Given the description of an element on the screen output the (x, y) to click on. 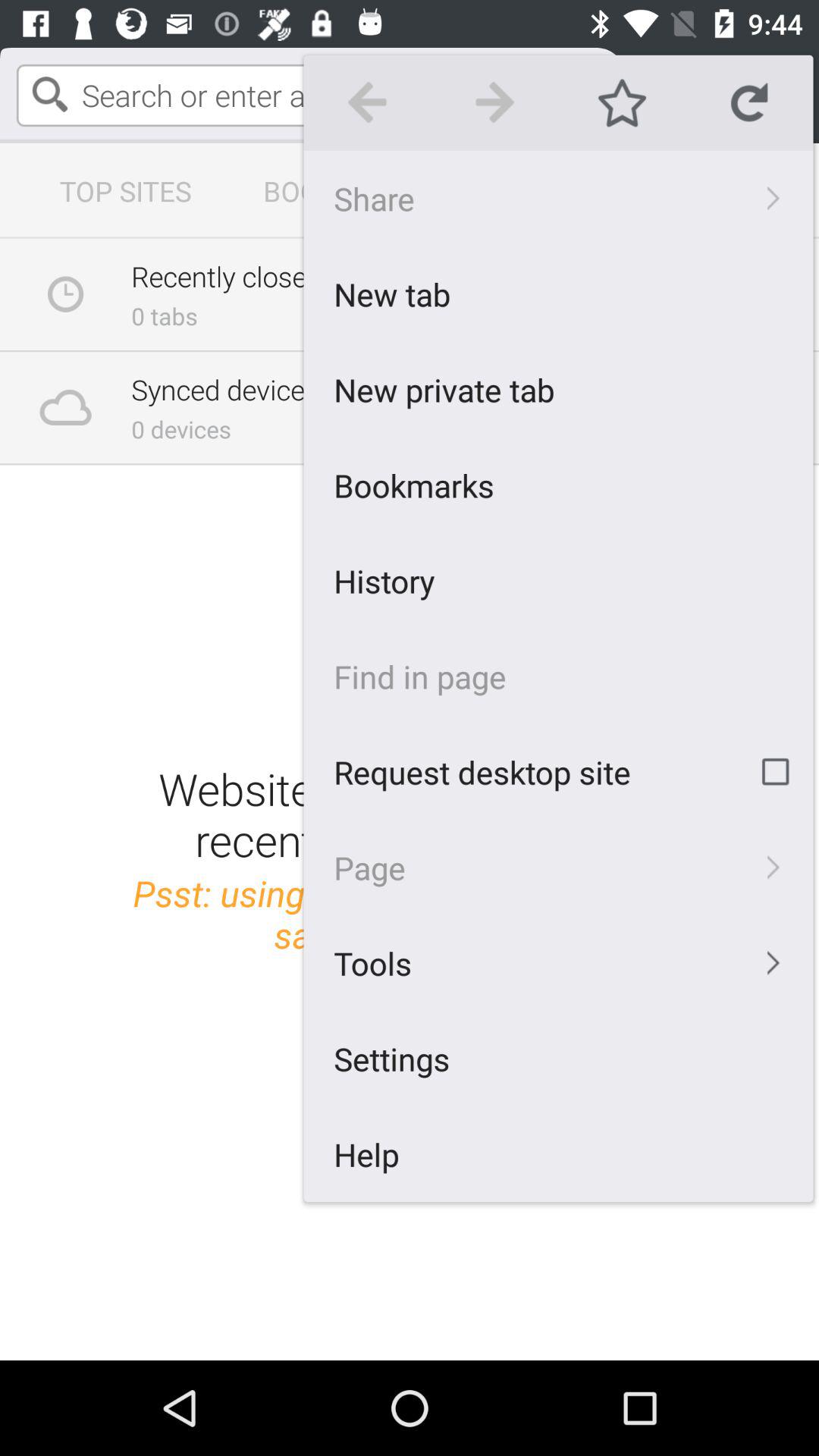
press icon above the share icon (367, 102)
